Given the description of an element on the screen output the (x, y) to click on. 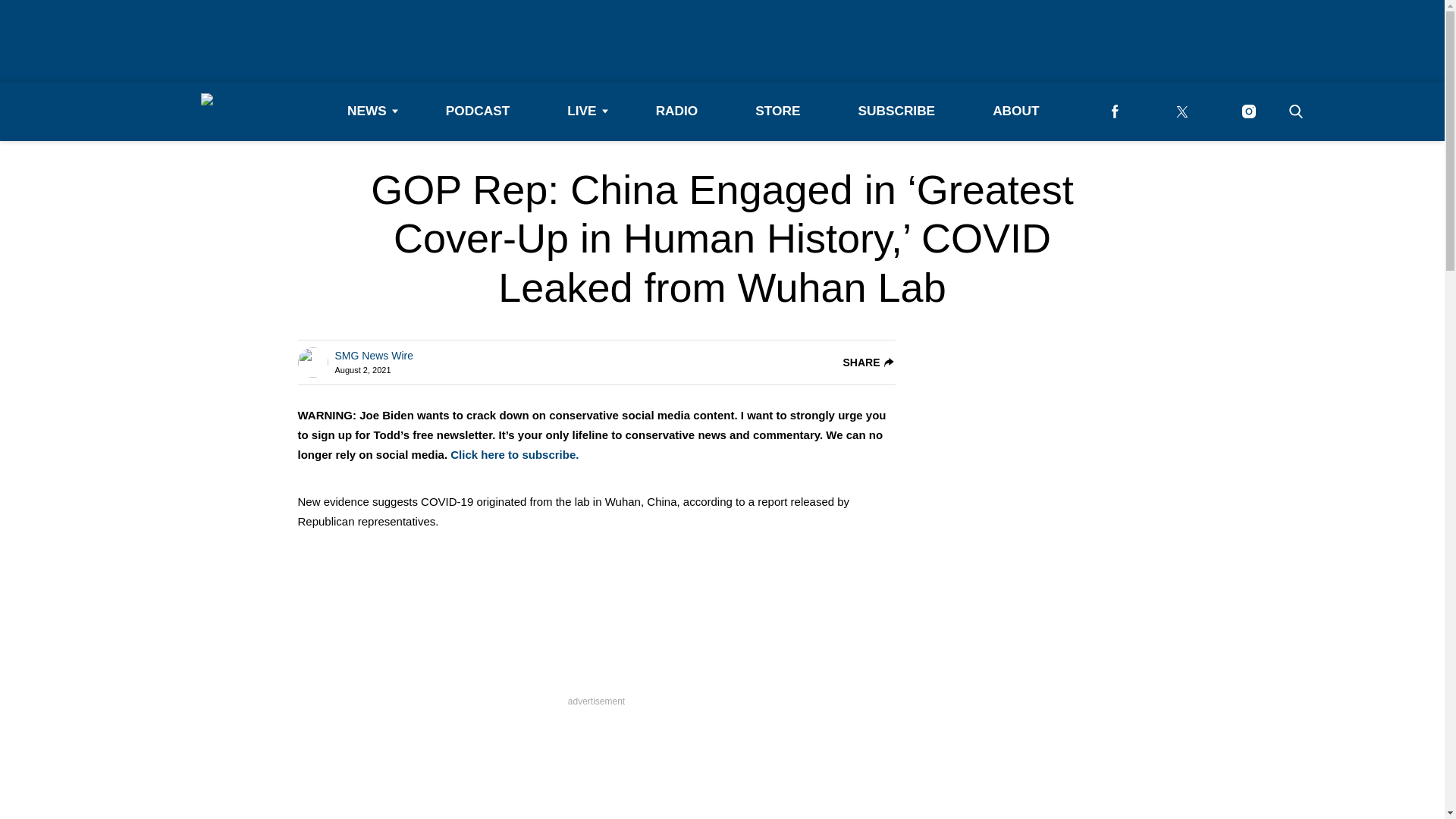
LIVE (582, 110)
SUBSCRIBE (896, 110)
NEWS (367, 110)
PODCAST (477, 110)
Click here to subscribe. (513, 454)
SMG News Wire (373, 355)
RADIO (676, 110)
STORE (777, 110)
Posts by SMG News Wire (373, 355)
ABOUT (1015, 110)
